Given the description of an element on the screen output the (x, y) to click on. 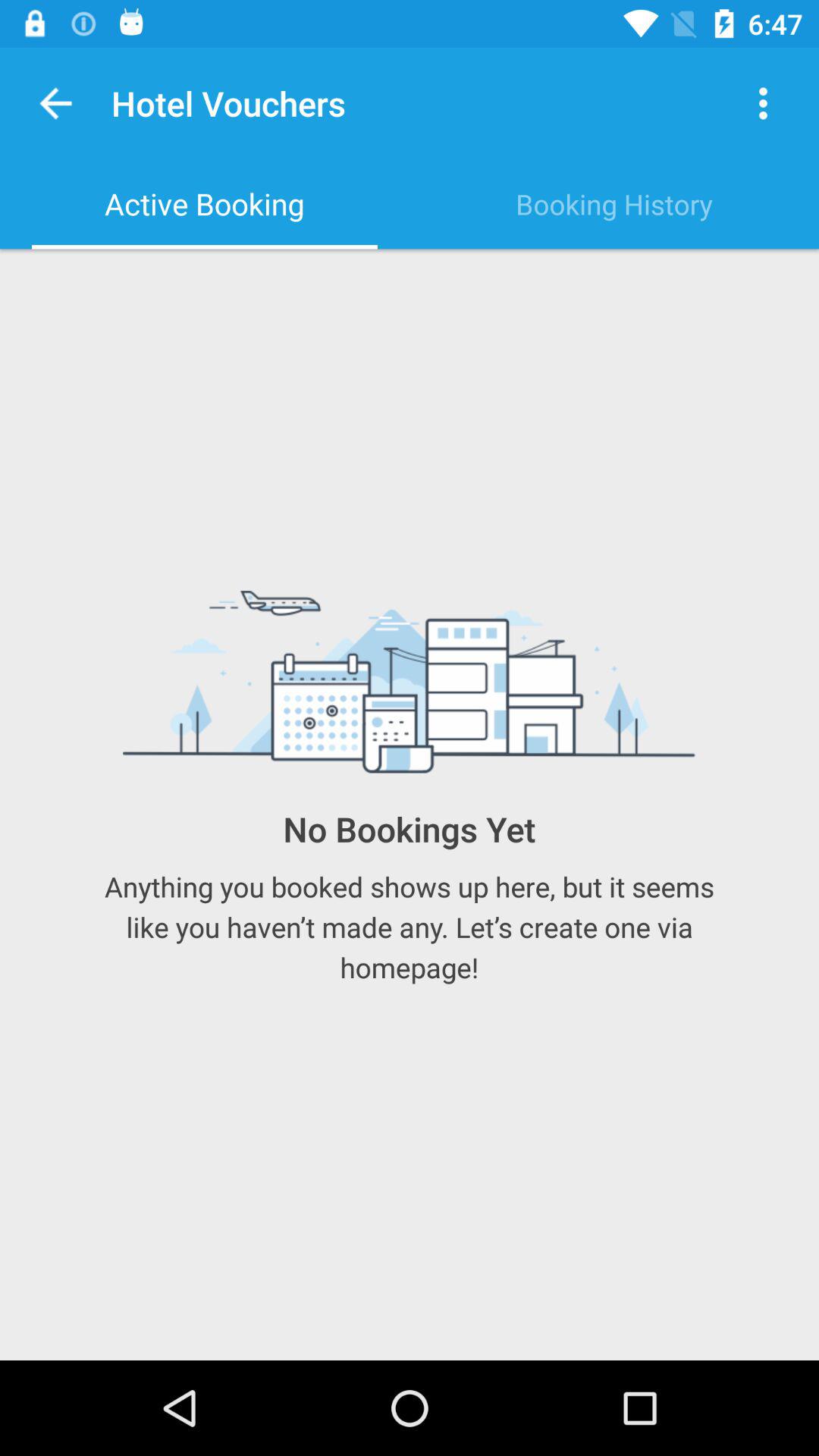
turn off the item next to the hotel vouchers icon (763, 103)
